Given the description of an element on the screen output the (x, y) to click on. 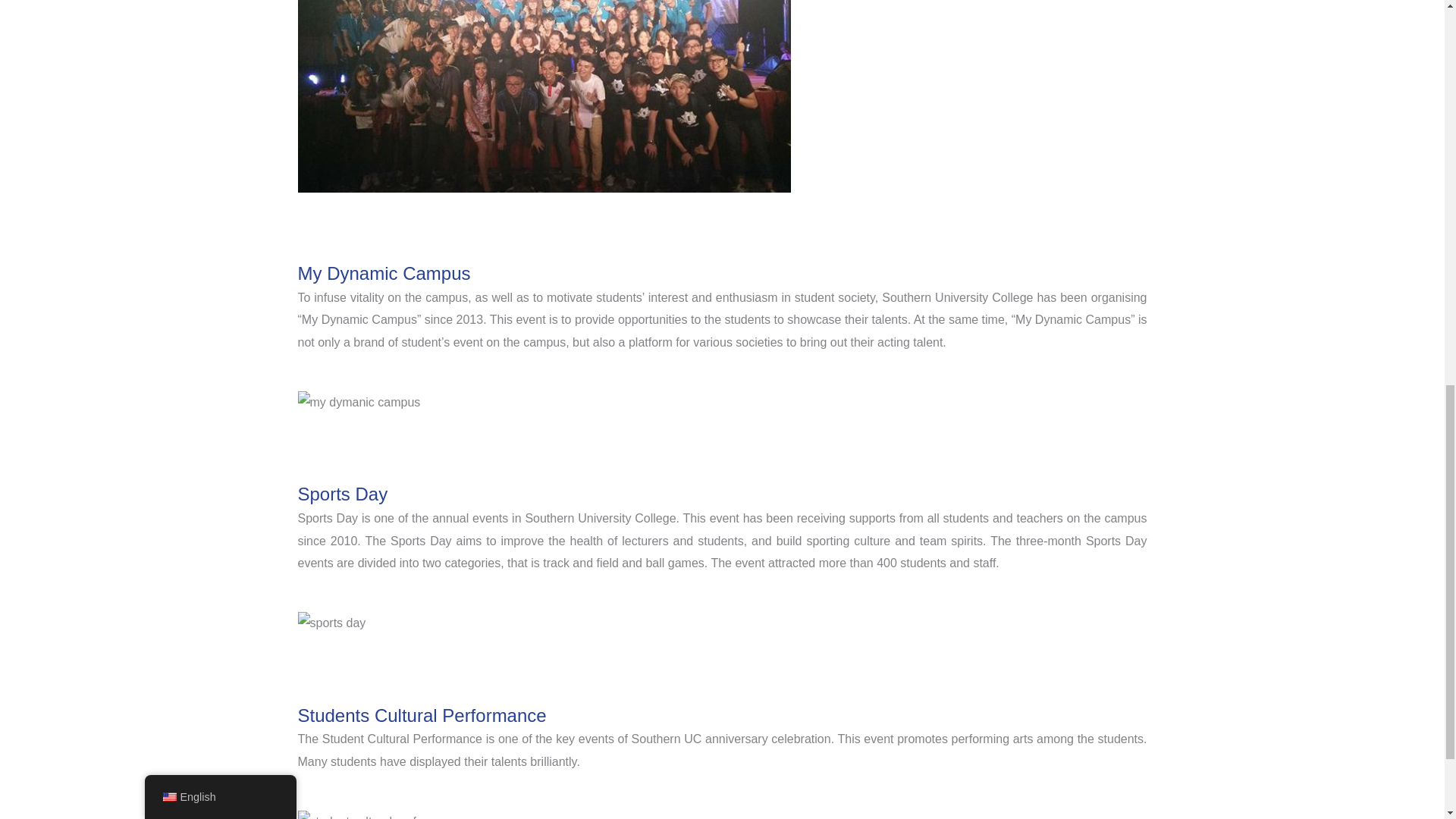
jump party (543, 96)
student cultural performance (380, 814)
sports day (331, 622)
my dymanic campus (358, 402)
